Given the description of an element on the screen output the (x, y) to click on. 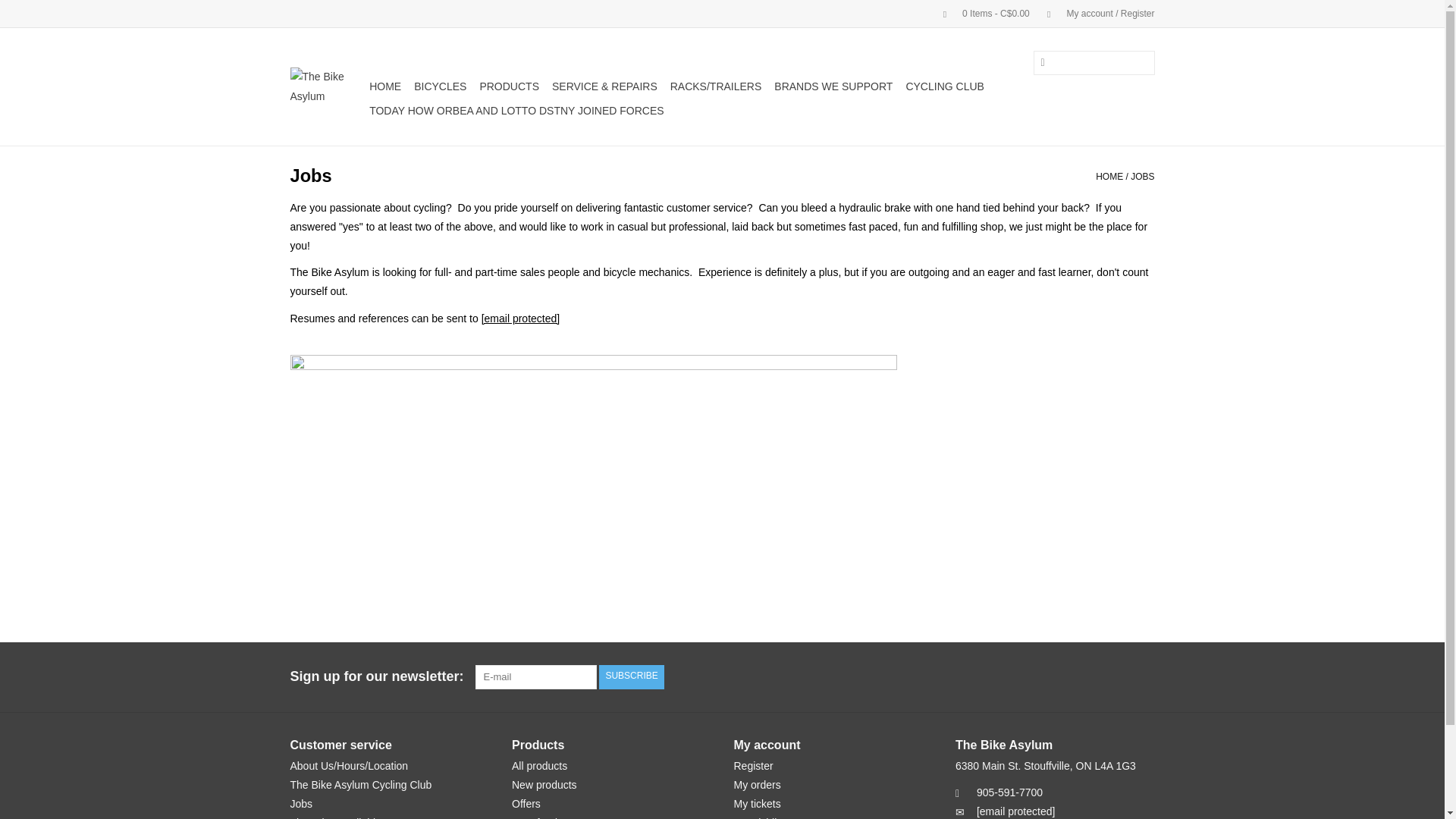
My account (1093, 13)
Cart (980, 13)
Bicycles (439, 86)
The Bike Asylum (327, 86)
PRODUCTS (508, 86)
HOME (385, 86)
BICYCLES (439, 86)
